Given the description of an element on the screen output the (x, y) to click on. 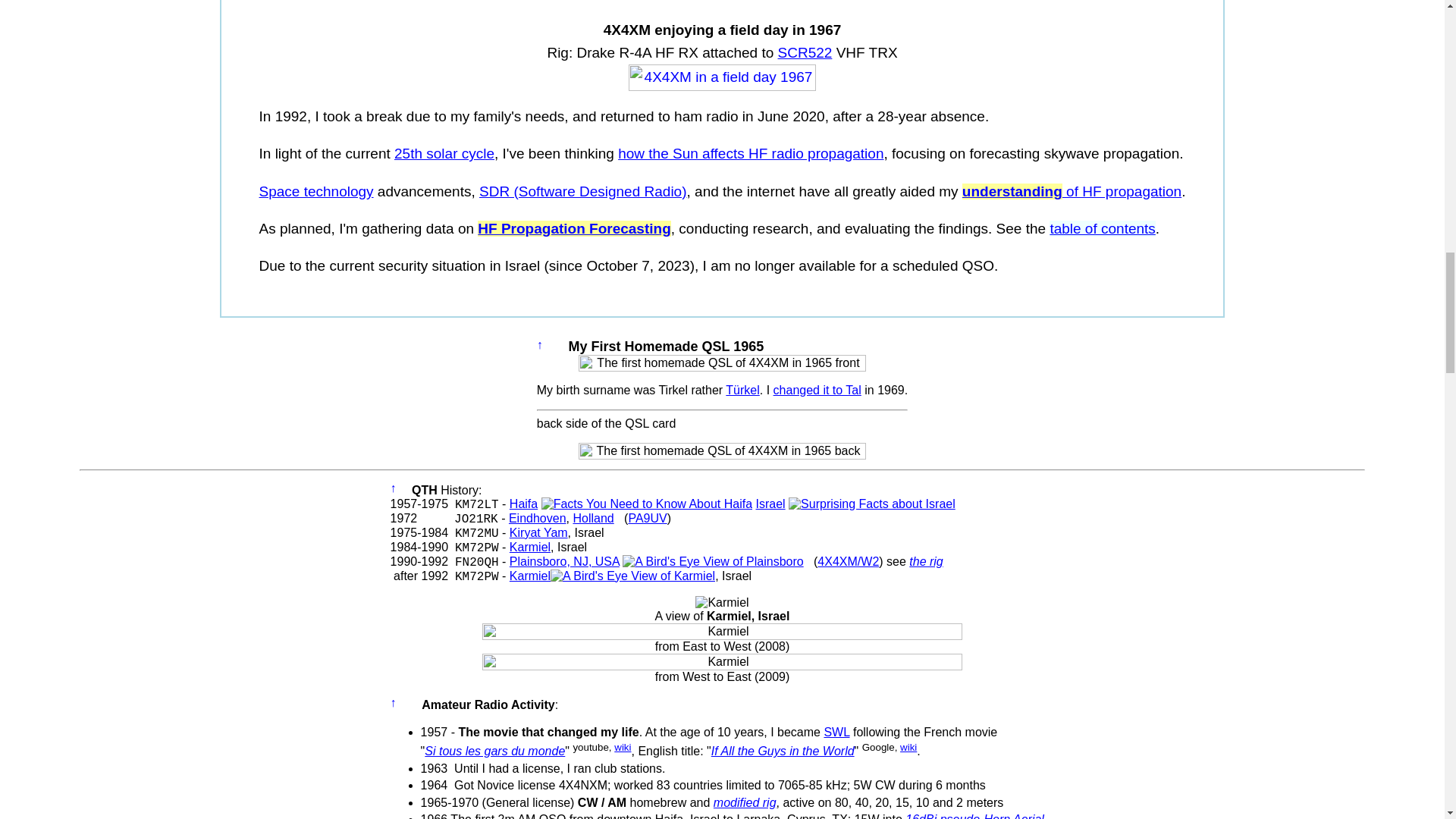
How Can We Forecast HF Propagation Conditions? (573, 228)
Understanding HF Propagation (1071, 191)
How do I find my purpose in life after retirement? (750, 153)
Space technology (316, 191)
4X4XM homemade QSL 1965 front side (722, 362)
how the Sun affects HF radio propagation (750, 153)
SCR522 (804, 52)
25th solar cycle (444, 153)
